Given the description of an element on the screen output the (x, y) to click on. 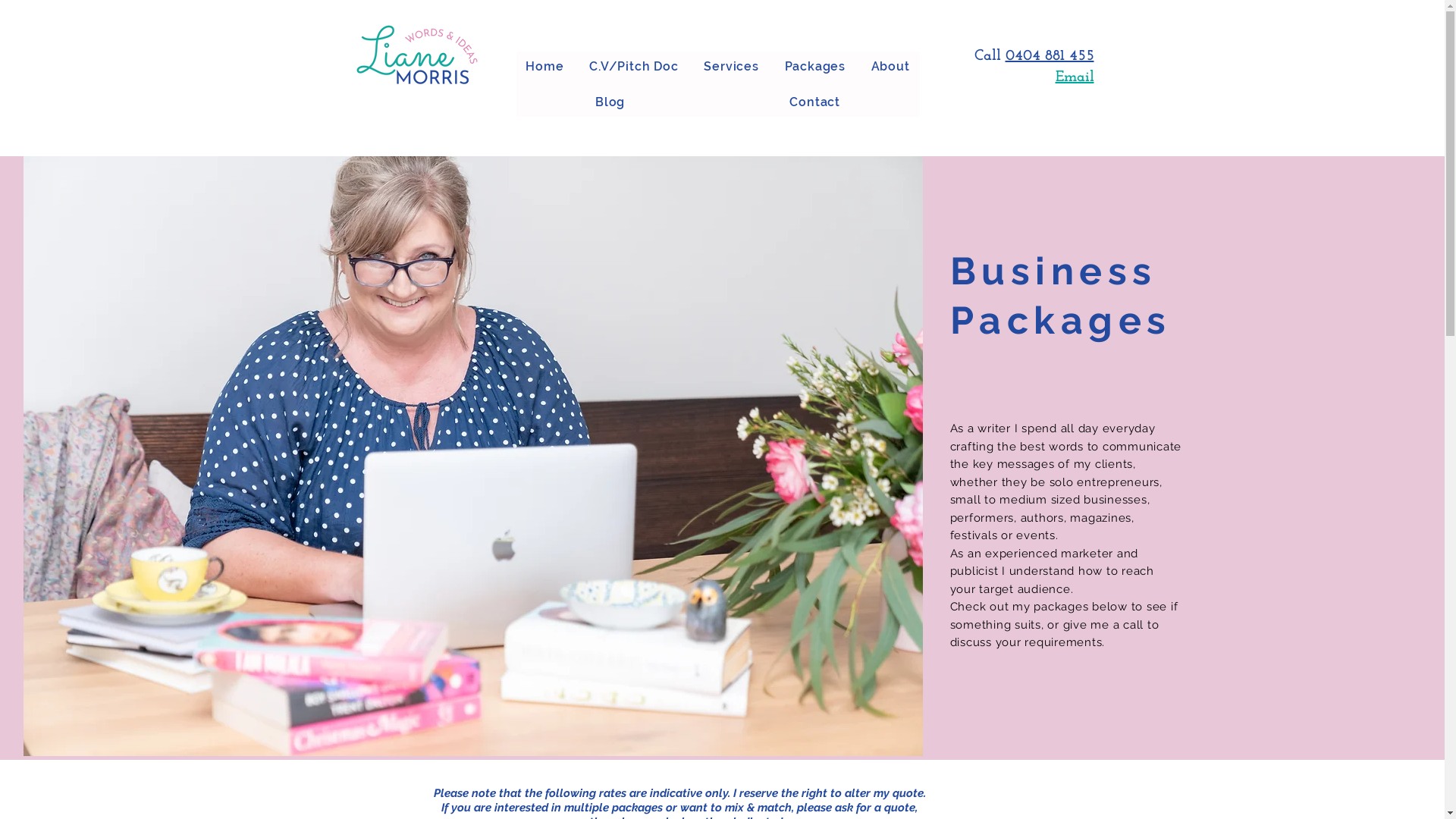
Services Element type: text (731, 66)
About Element type: text (890, 66)
Liane Morris-Trish Evans Photography-3.j Element type: hover (472, 456)
0404 881 455 Element type: text (1049, 55)
Contact Element type: text (814, 101)
Home Element type: text (544, 66)
C.V/Pitch Doc Element type: text (633, 66)
Email Element type: text (1074, 76)
Blog Element type: text (609, 101)
Packages Element type: text (815, 66)
